Given the description of an element on the screen output the (x, y) to click on. 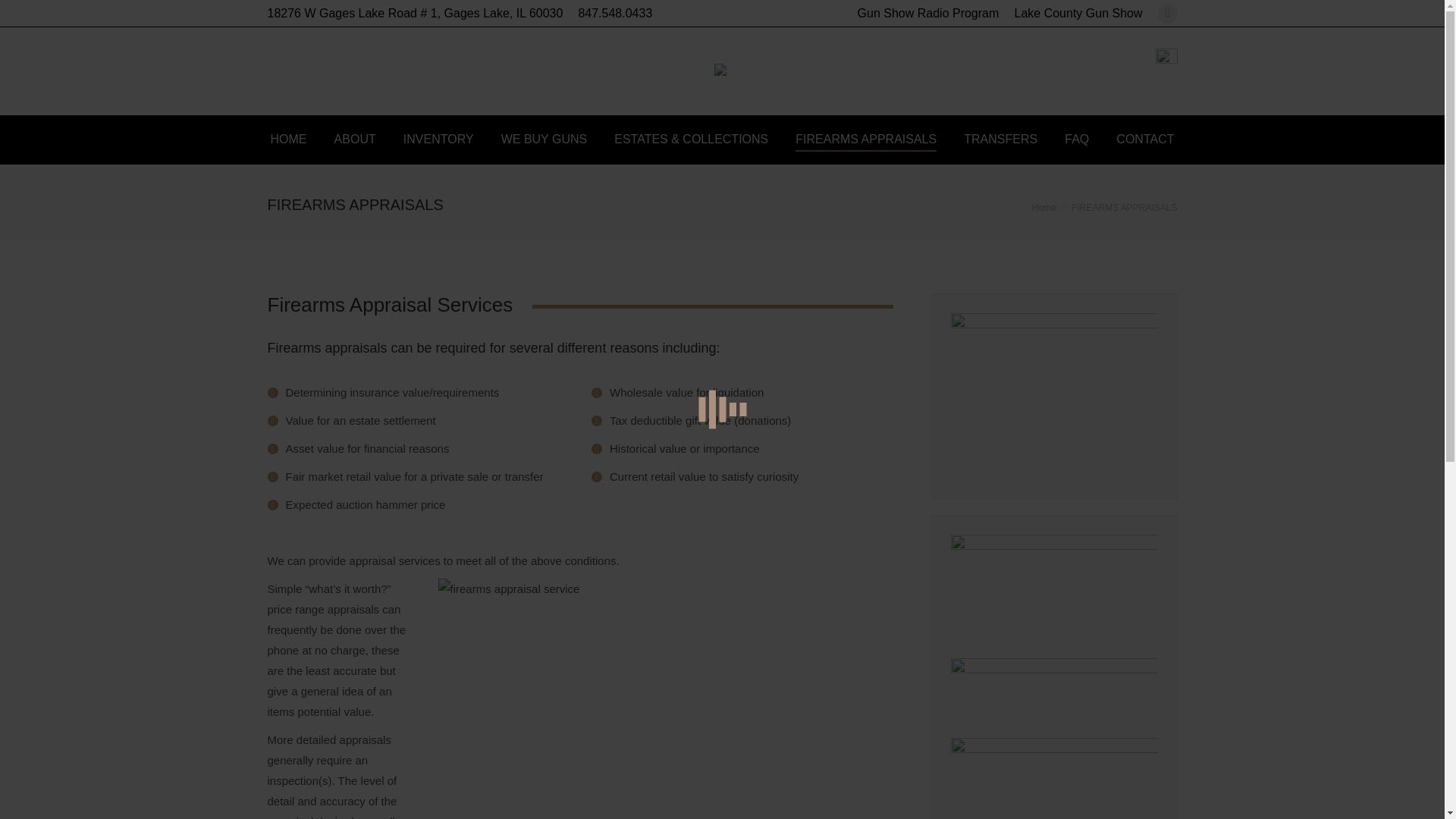
CONTACT (1144, 138)
WE BUY GUNS (544, 138)
TRANSFERS (1000, 138)
Lake County Gun Show (1078, 13)
HOME (287, 138)
Home (1044, 206)
ABOUT (354, 138)
FIREARMS APPRAISALS (865, 138)
Facebook (1166, 13)
Gun Show Radio Program (927, 13)
